Given the description of an element on the screen output the (x, y) to click on. 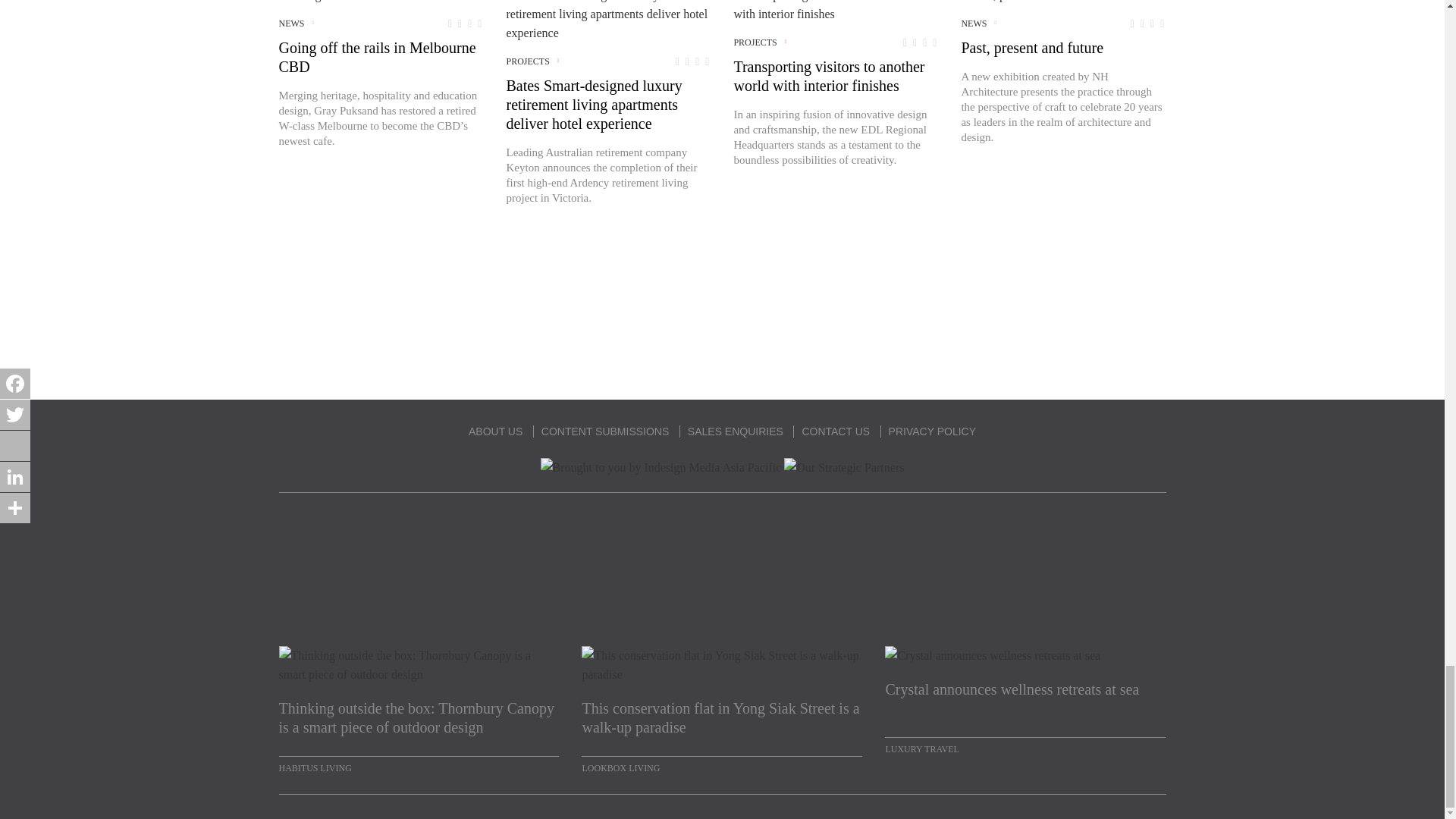
Going off the rails in Melbourne CBD (378, 2)
Past, present and future (1023, 2)
Brought to you by Indesign Media Asia Pacific (660, 466)
